Given the description of an element on the screen output the (x, y) to click on. 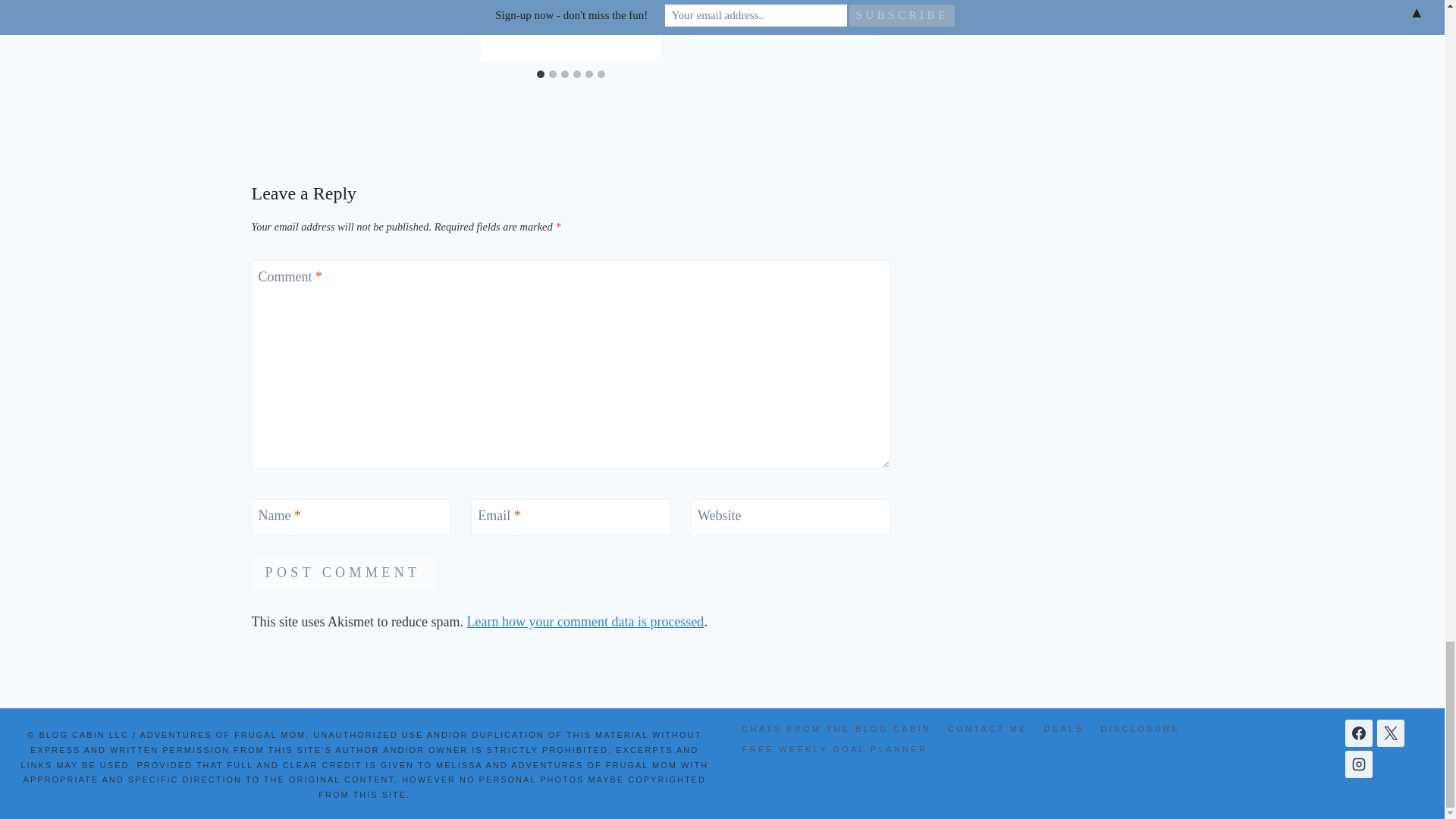
Post Comment (342, 572)
